Given the description of an element on the screen output the (x, y) to click on. 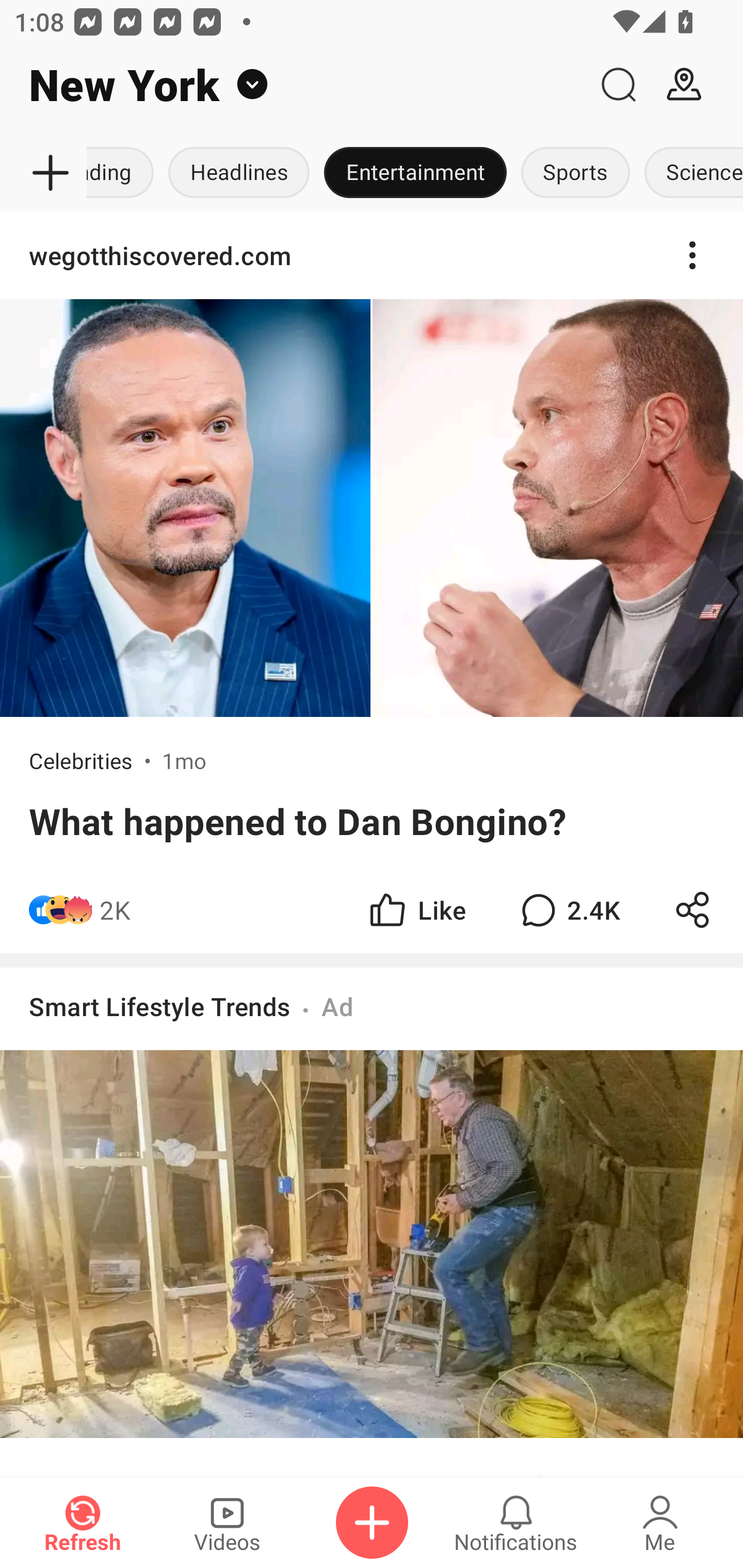
New York (292, 84)
Trending (123, 172)
Headlines (238, 172)
Entertainment (415, 172)
Sports (575, 172)
Science (690, 172)
wegotthiscovered.com (371, 255)
2K (114, 910)
Like (416, 910)
2.4K (568, 910)
Smart Lifestyle Trends (159, 1006)
Videos (227, 1522)
Notifications (516, 1522)
Me (659, 1522)
